Given the description of an element on the screen output the (x, y) to click on. 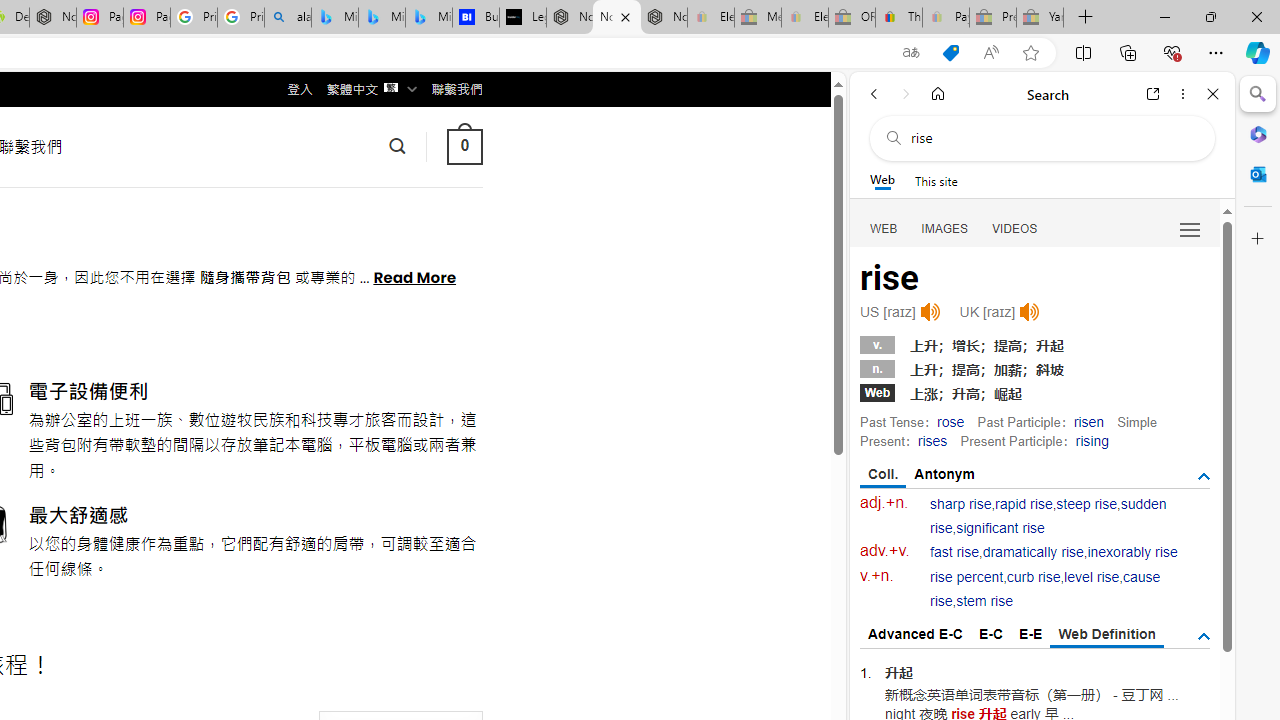
This site has coupons! Shopping in Microsoft Edge (950, 53)
level rise (1091, 577)
Coll. (883, 475)
Threats and offensive language policy | eBay (898, 17)
dramatically rise (1032, 552)
sharp rise (961, 503)
